Given the description of an element on the screen output the (x, y) to click on. 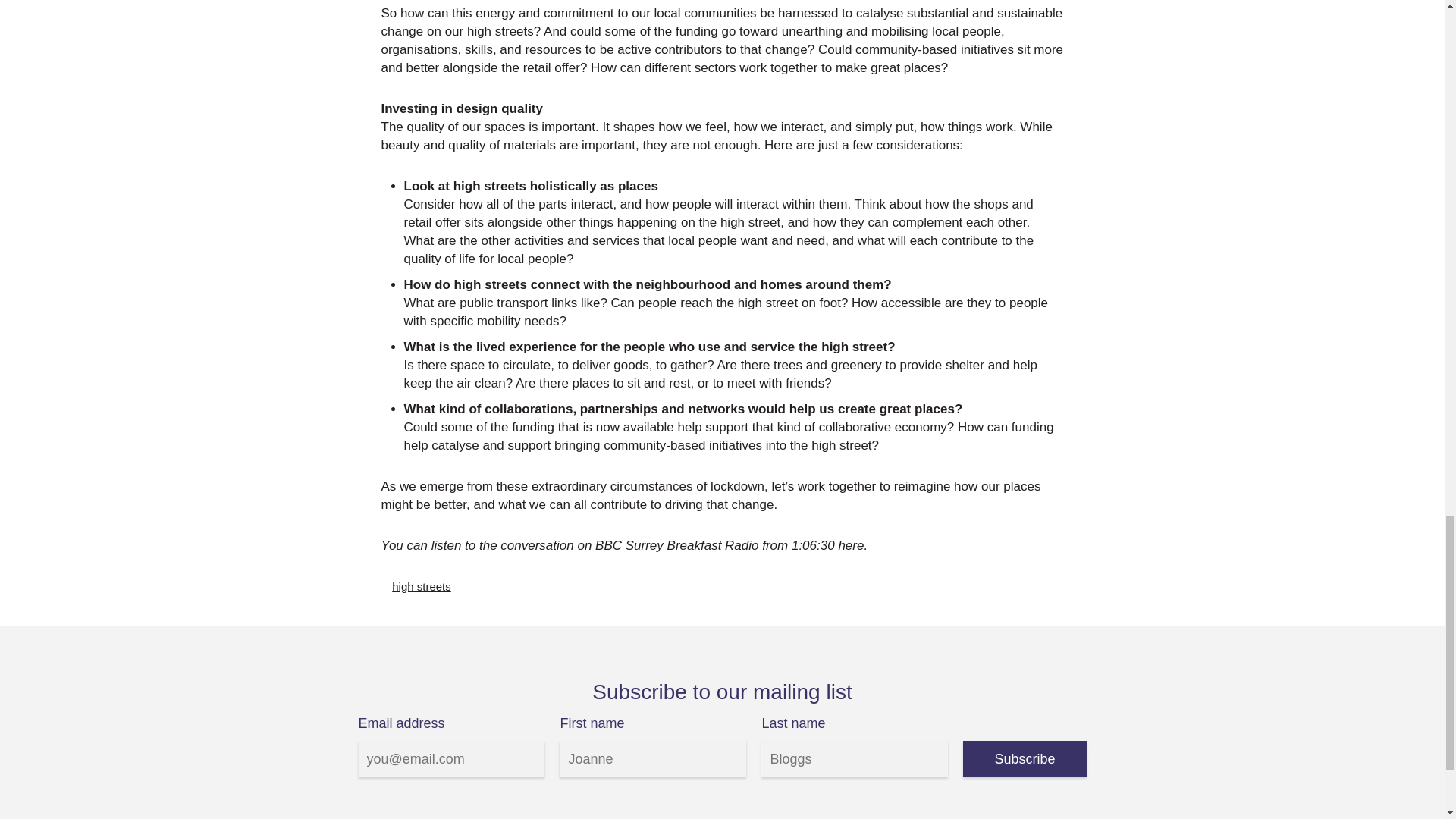
Subscribe (1024, 759)
